Given the description of an element on the screen output the (x, y) to click on. 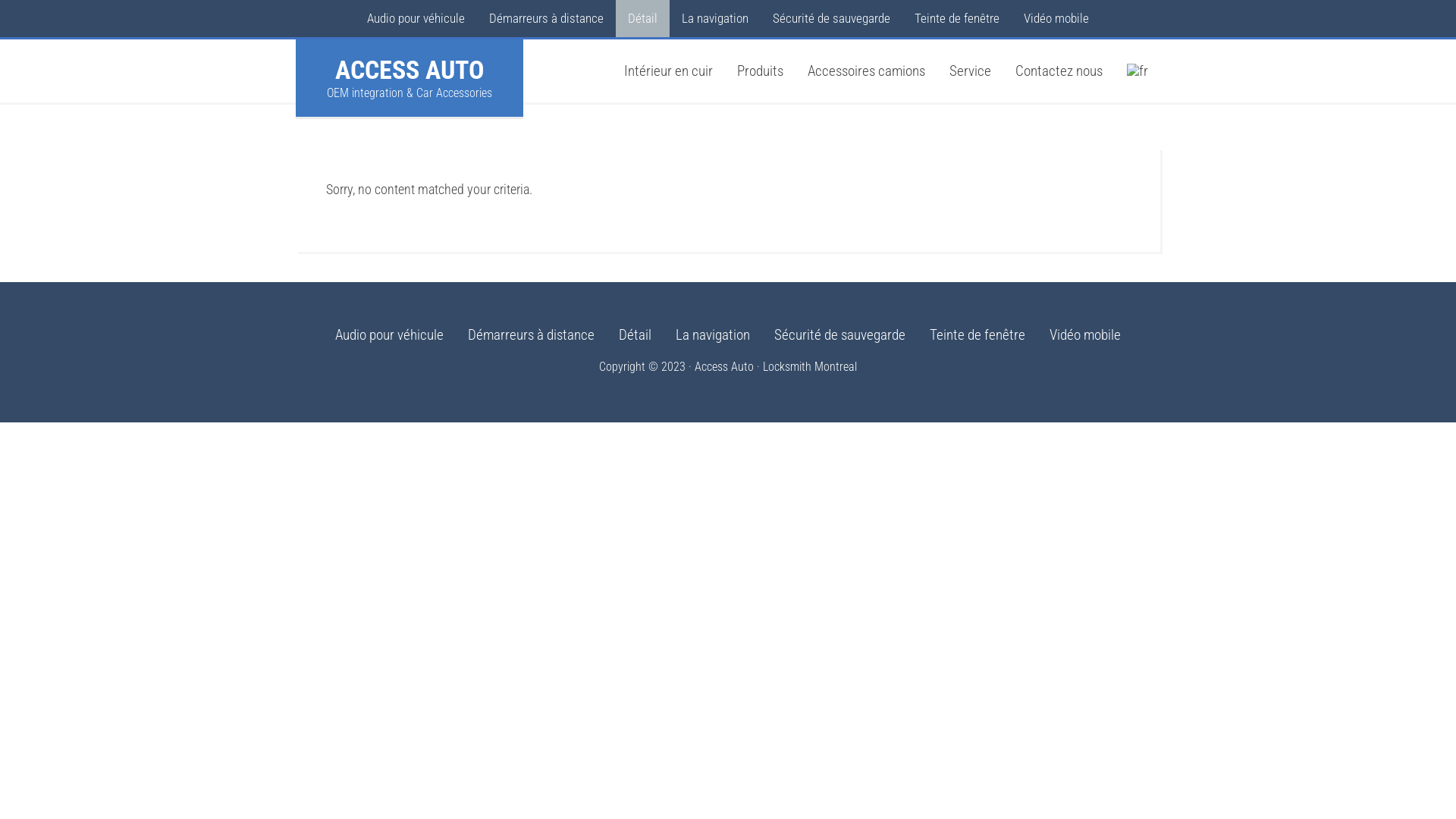
Locksmith Montreal Element type: text (809, 366)
ACCESS AUTO Element type: text (409, 69)
Accessoires camions Element type: text (866, 70)
Contactez nous Element type: text (1058, 70)
La navigation Element type: text (712, 338)
La navigation Element type: text (714, 18)
Produits Element type: text (759, 70)
Service Element type: text (970, 70)
